Given the description of an element on the screen output the (x, y) to click on. 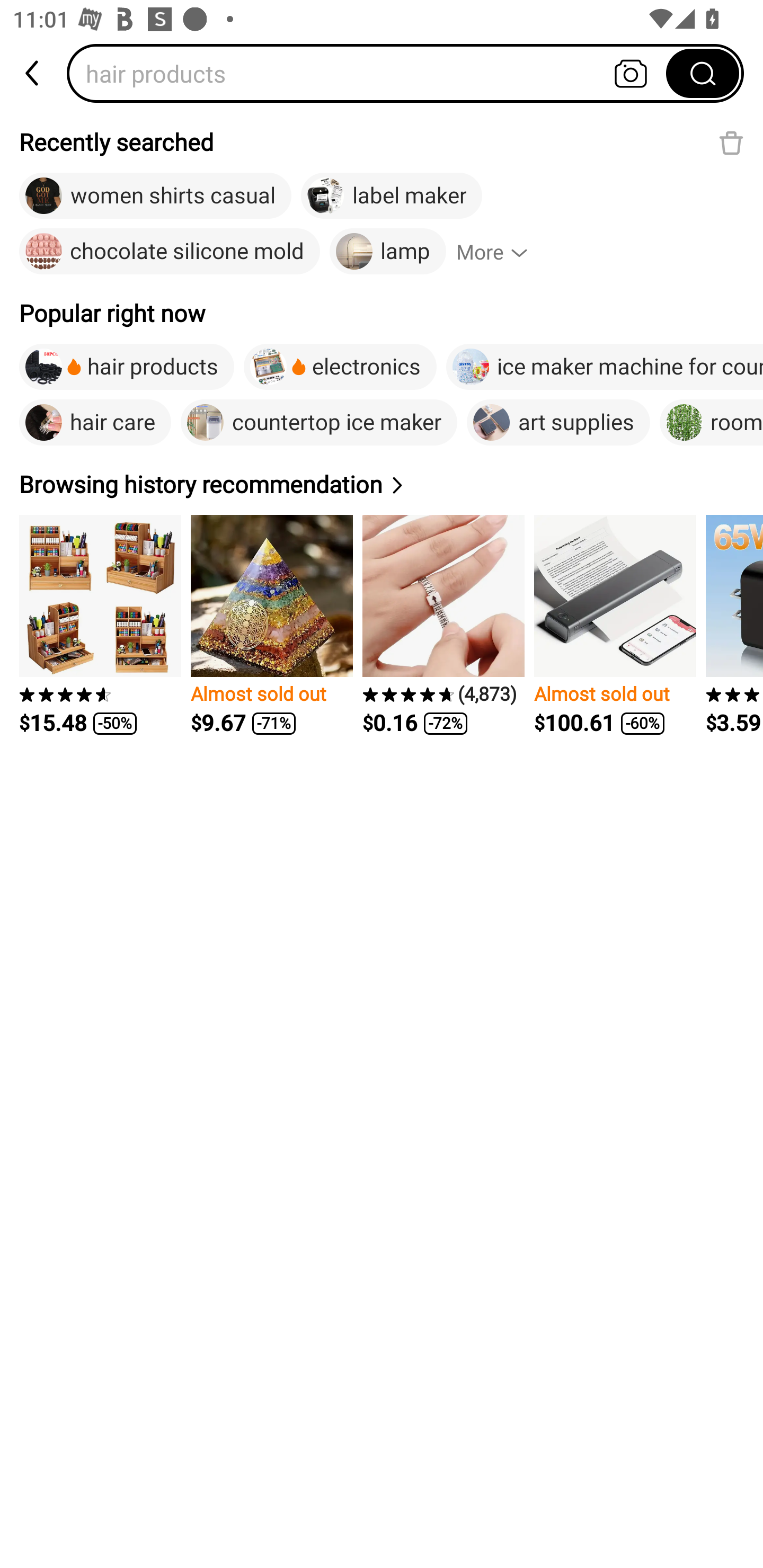
back (33, 72)
hair products (372, 73)
Search by photo (630, 73)
Delete recent search (731, 142)
women shirts casual (155, 195)
label maker (391, 195)
chocolate silicone mold (169, 251)
lamp (387, 251)
More (499, 251)
hair products (126, 366)
electronics (339, 366)
ice maker machine for countertop (604, 366)
hair care (94, 422)
countertop ice maker (318, 422)
art supplies (558, 422)
room decor (711, 422)
Browsing history recommendation (213, 484)
$15.48 -50% (100, 625)
Almost sold out $9.67 -71% (271, 625)
(4,873) $0.16 -72% (443, 625)
Almost sold out $100.61 -60% (614, 625)
